Given the description of an element on the screen output the (x, y) to click on. 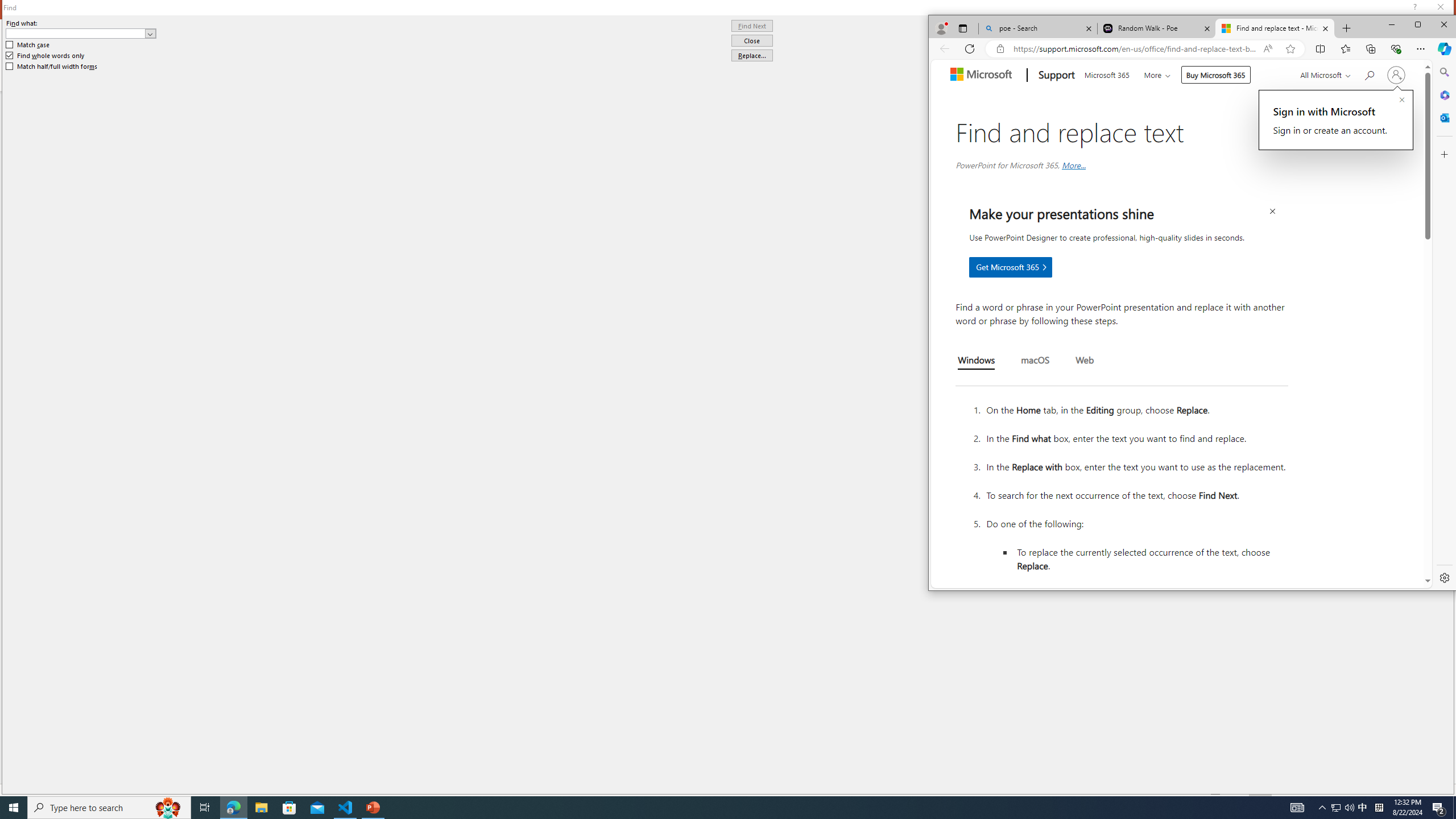
New Tab (1346, 28)
Browser essentials (1395, 48)
Back (944, 48)
Support (1055, 75)
